Given the description of an element on the screen output the (x, y) to click on. 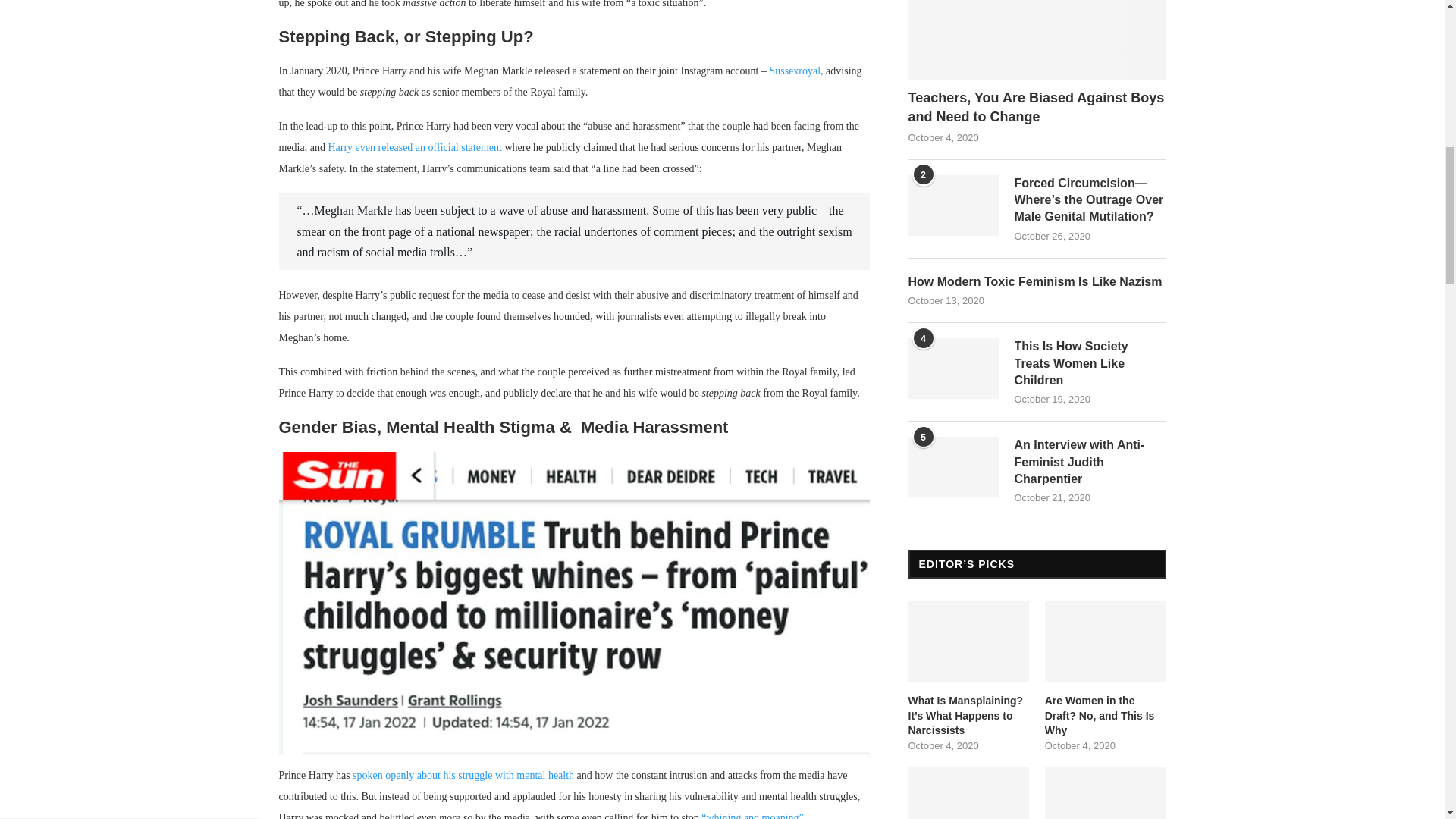
Harry even released an official statement (413, 147)
Sussexroyal, (795, 70)
spoken openly about his struggle with mental health (462, 775)
Teachers, You Are Biased Against Boys and Need to Change (1037, 40)
